Given the description of an element on the screen output the (x, y) to click on. 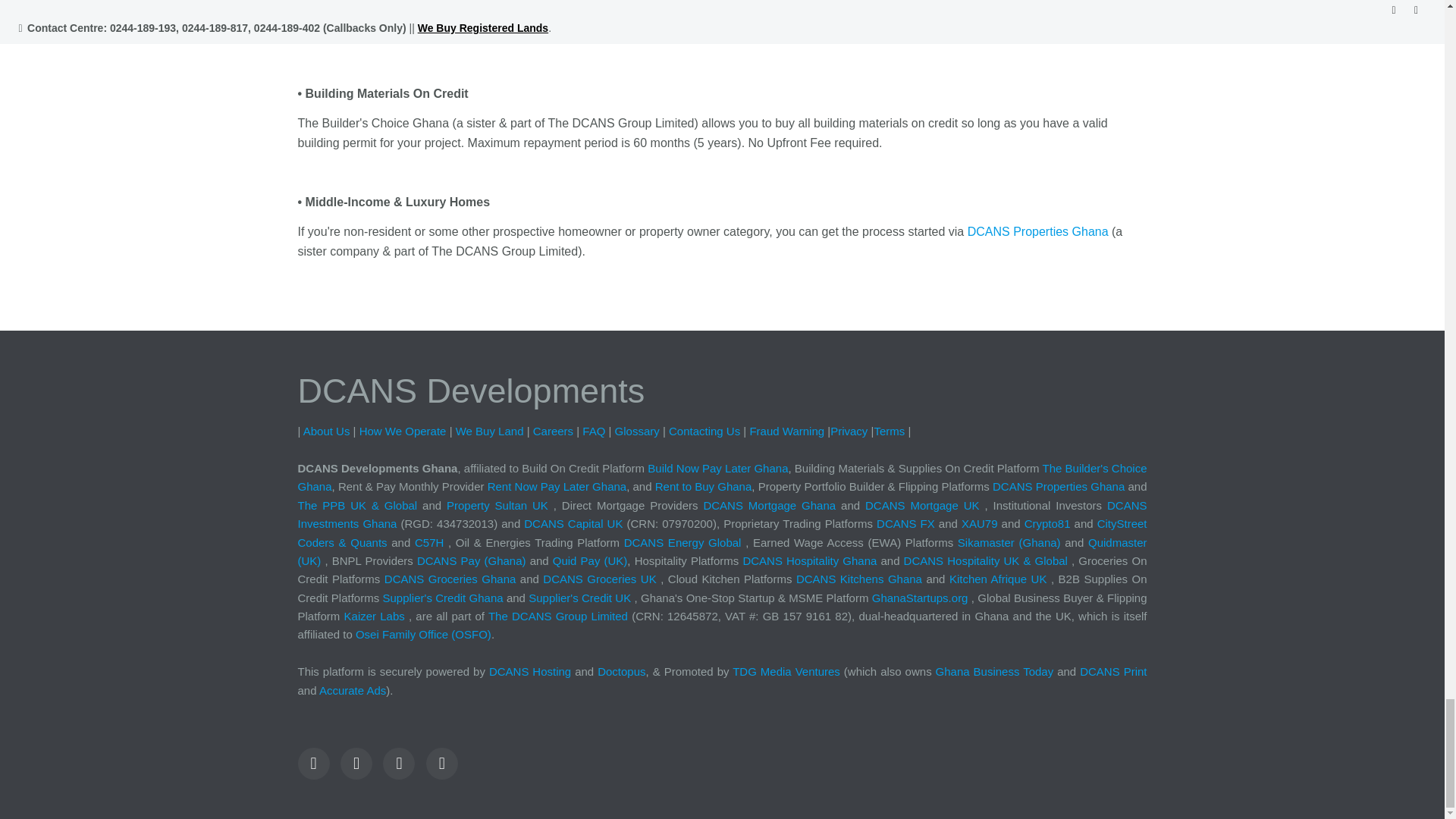
The DCANS Group Limited (557, 615)
